Given the description of an element on the screen output the (x, y) to click on. 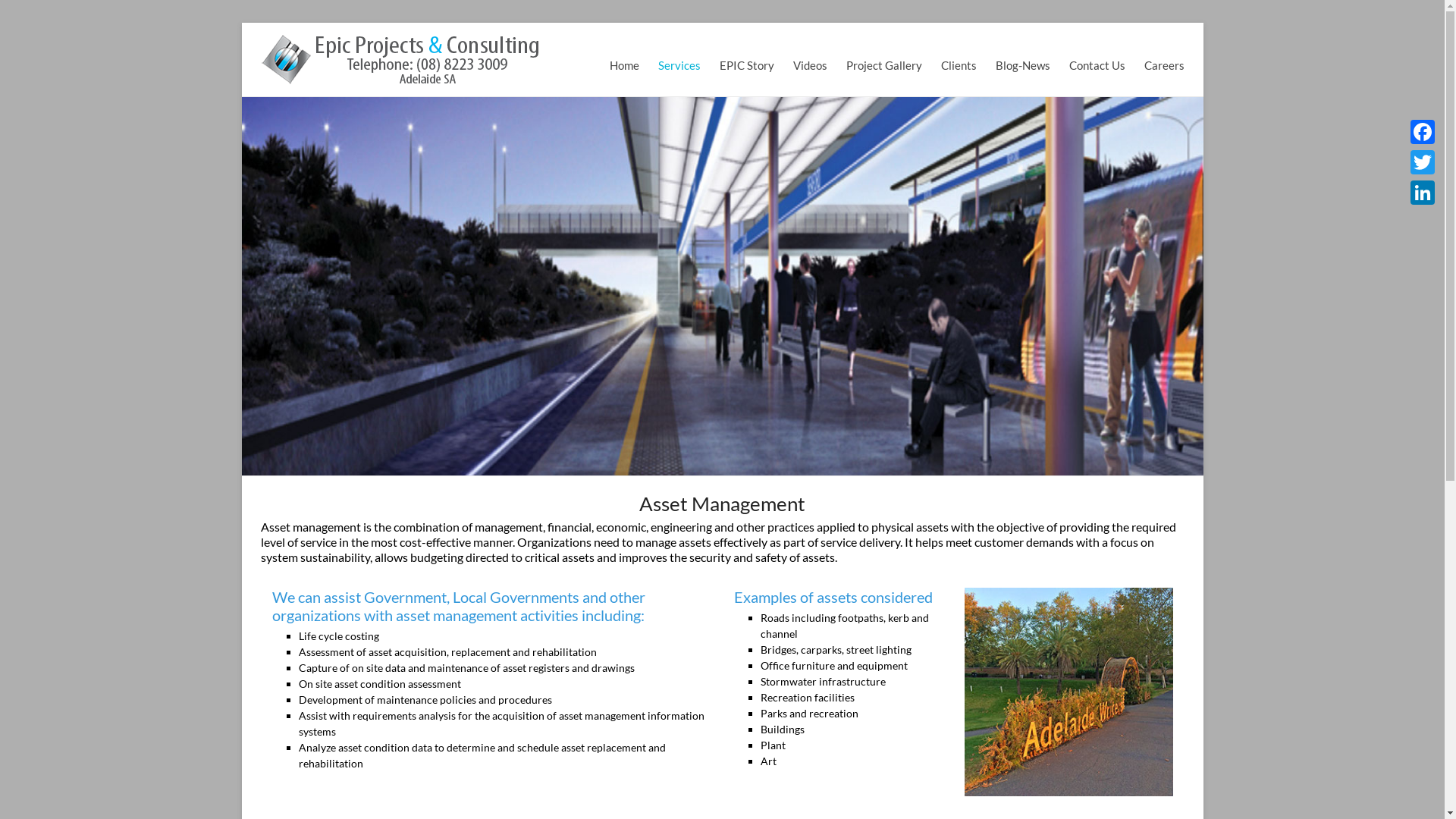
Facebook Element type: text (1422, 131)
Epic Projects & Consulting Element type: hover (400, 39)
EPIC Story Element type: text (745, 48)
Contact Us Element type: text (1097, 48)
Epic Projects & Consulting Element type: text (713, 55)
Twitter Element type: text (1422, 162)
Services Element type: text (679, 48)
Home Element type: text (624, 48)
Clients Element type: text (957, 48)
LinkedIn Element type: text (1422, 192)
Blog-News Element type: text (1021, 48)
Careers Element type: text (1163, 48)
Project Gallery Element type: text (884, 48)
Videos Element type: text (810, 48)
